Given the description of an element on the screen output the (x, y) to click on. 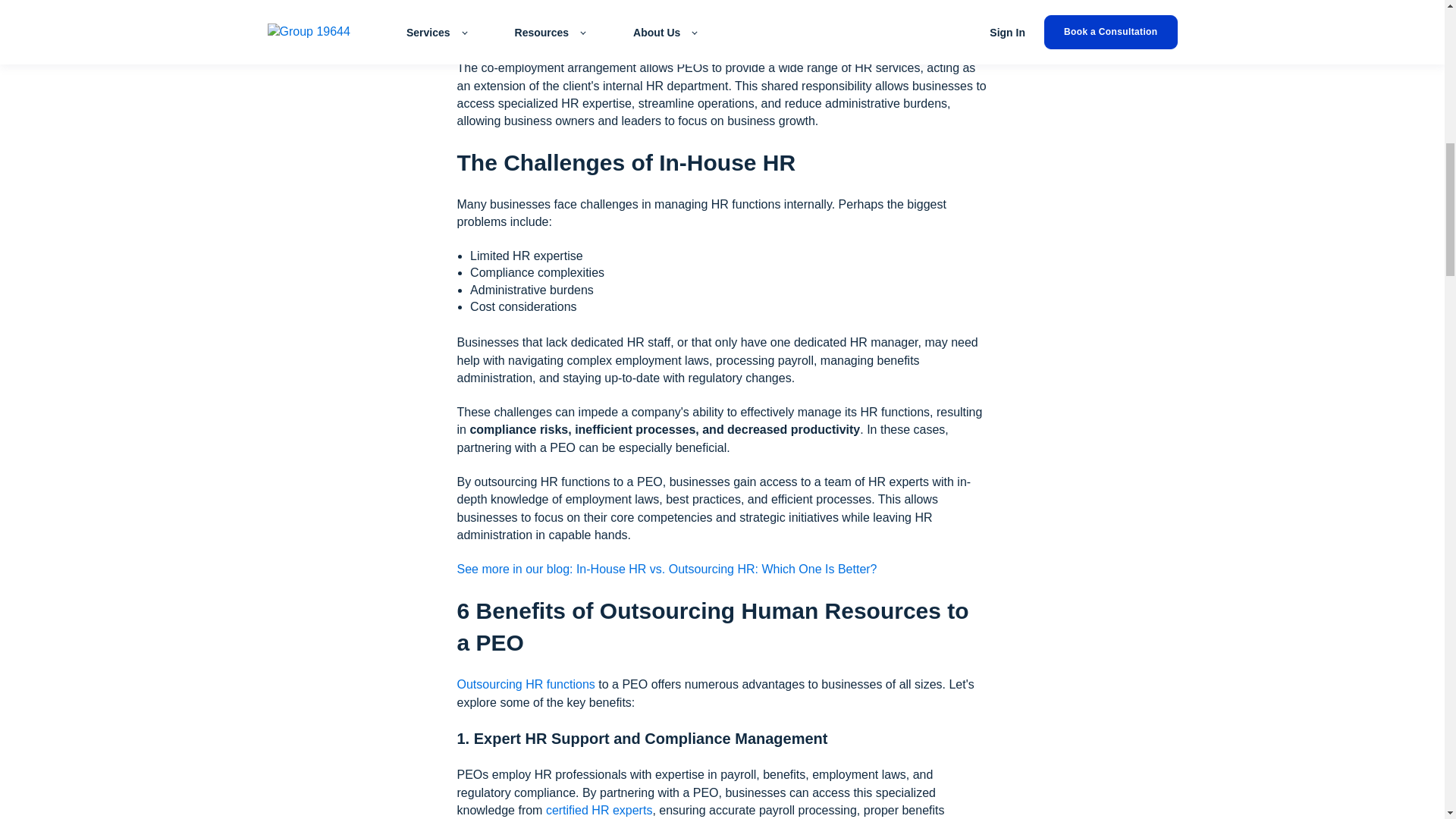
Outsourcing HR functions (525, 684)
certified HR experts (599, 809)
